Given the description of an element on the screen output the (x, y) to click on. 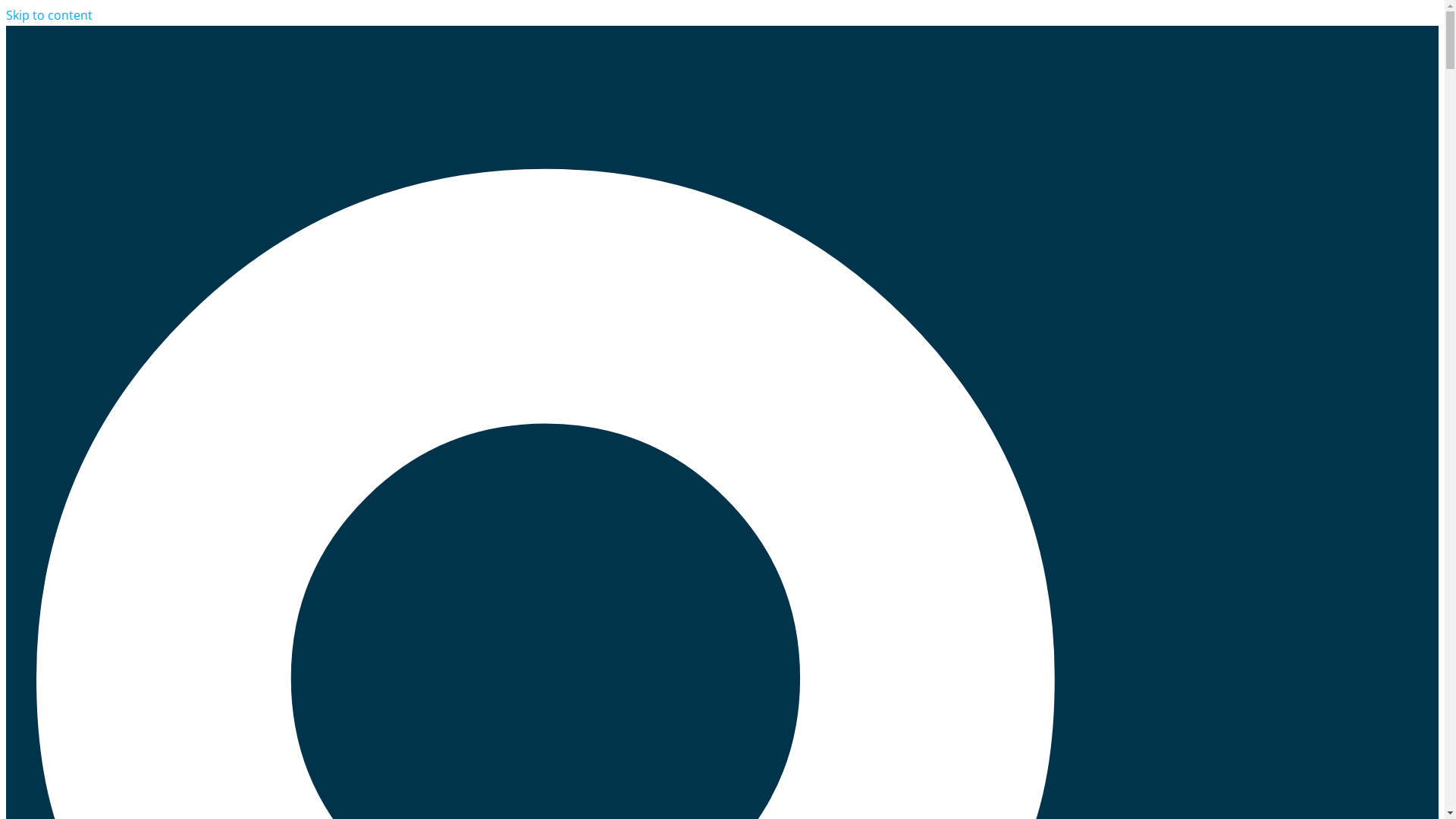
Skip to content Element type: text (49, 14)
